Given the description of an element on the screen output the (x, y) to click on. 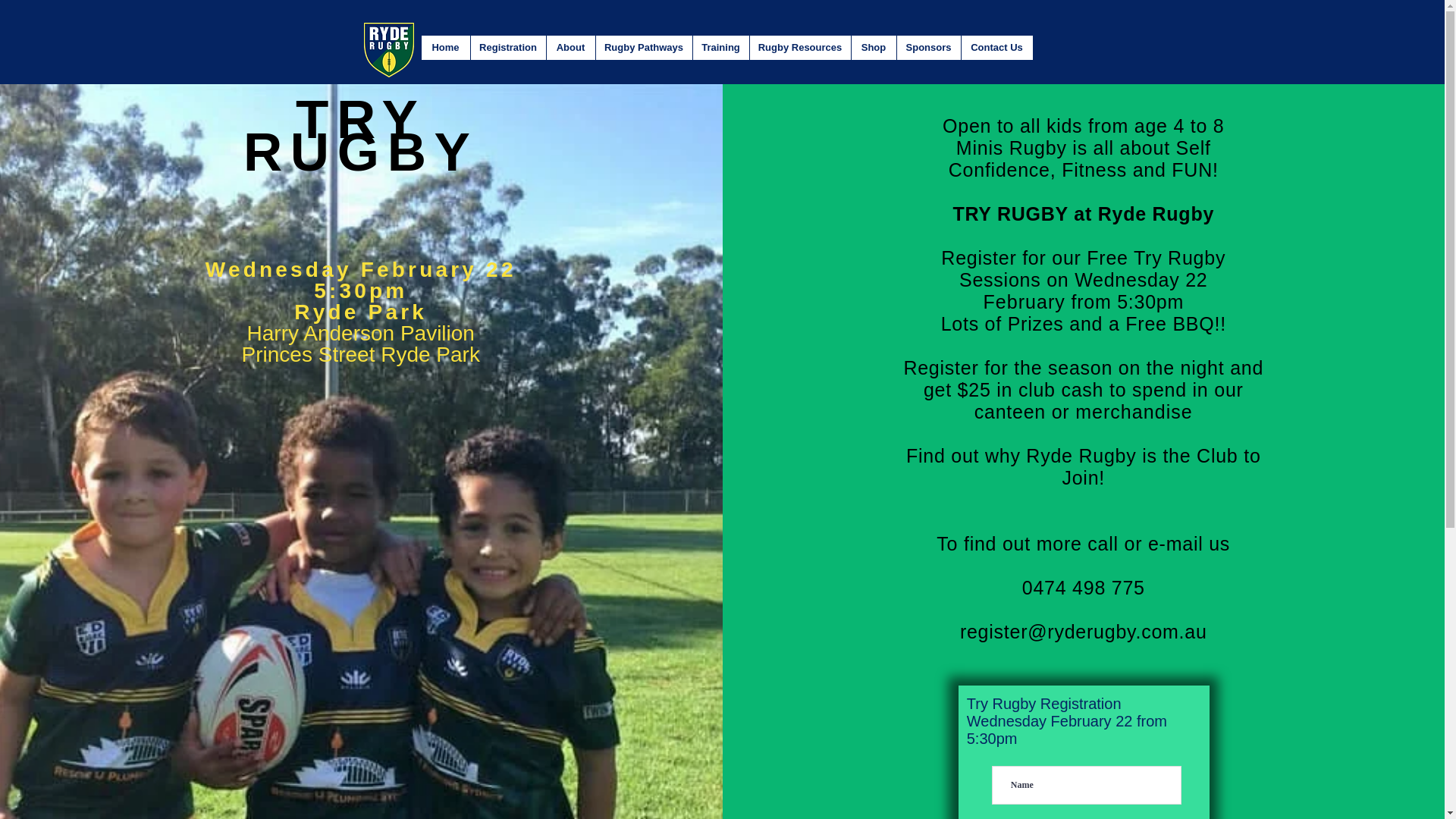
About (570, 47)
Contact Us (995, 47)
Rugby Resources (799, 47)
Registration (508, 47)
Sponsors (928, 47)
Training (719, 47)
Home (446, 47)
Rugby Pathways (642, 47)
Shop (873, 47)
